Given the description of an element on the screen output the (x, y) to click on. 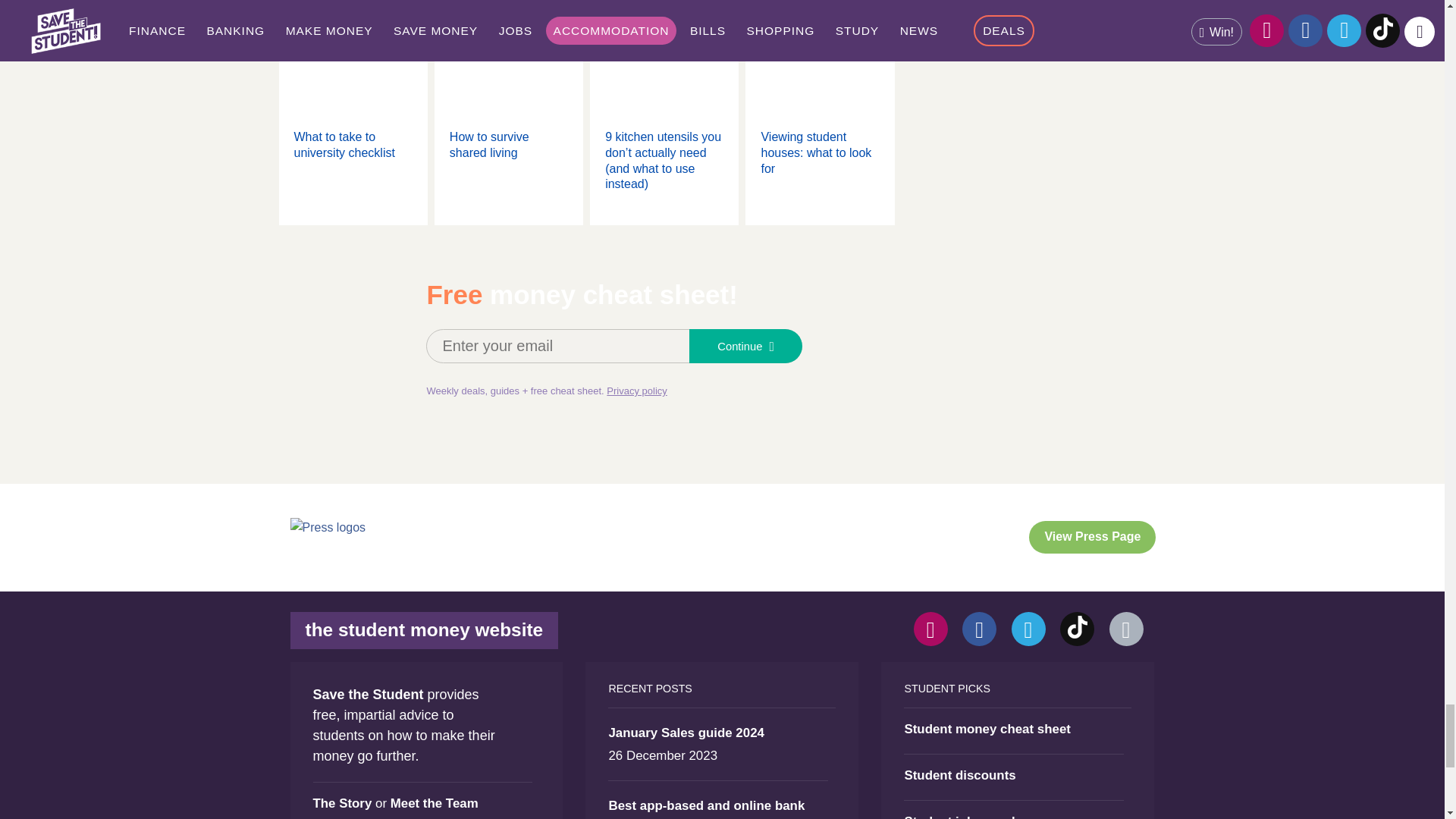
Contact us (1125, 628)
